Given the description of an element on the screen output the (x, y) to click on. 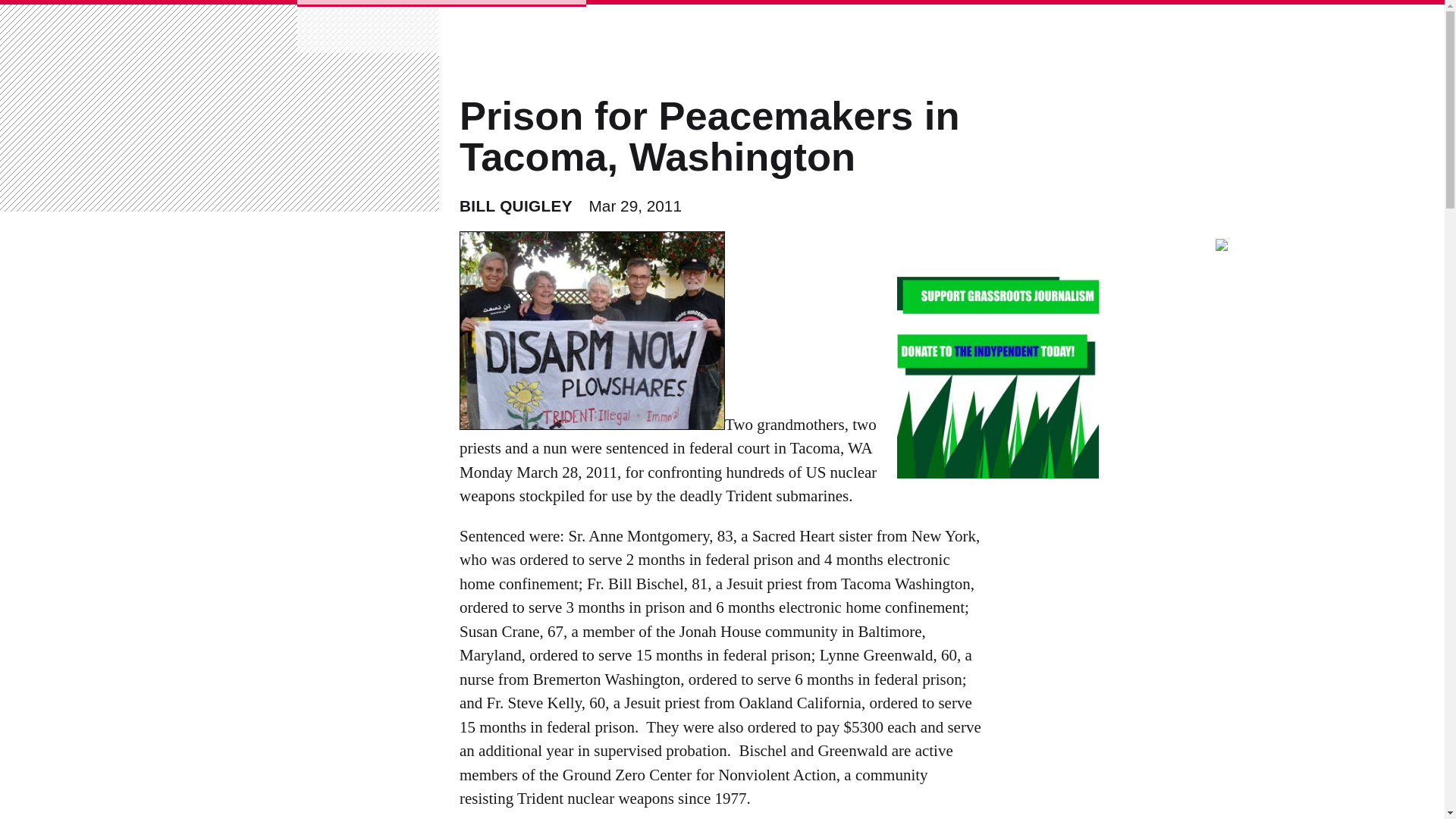
Menu (262, 29)
BILL QUIGLEY (516, 205)
Search (52, 21)
